Given the description of an element on the screen output the (x, y) to click on. 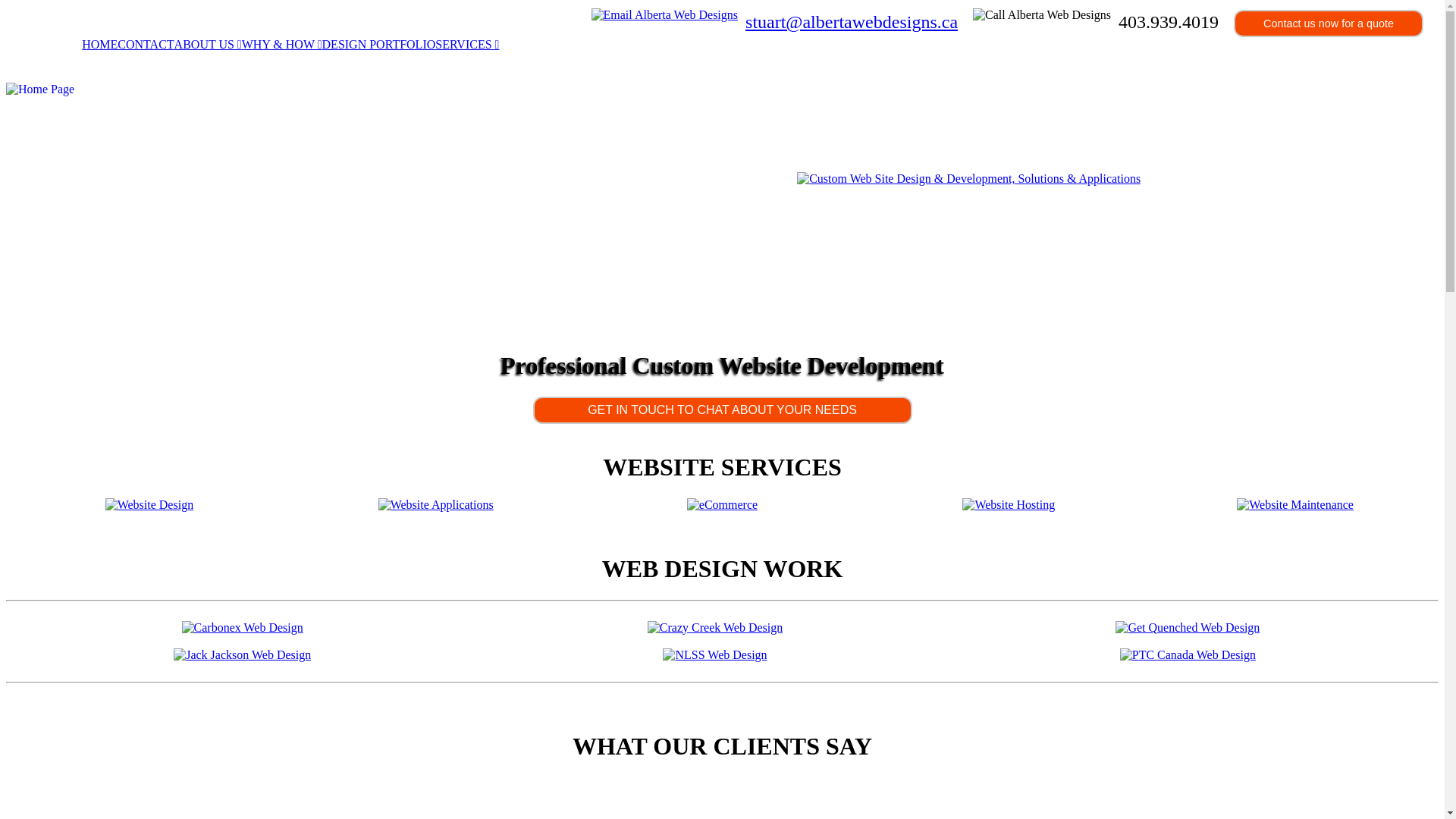
Contact us now for a quote Element type: text (1328, 23)
HOME Element type: text (99, 43)
CONTACT Element type: text (145, 43)
GET IN TOUCH TO CHAT ABOUT YOUR NEEDS Element type: text (721, 409)
DESIGN PORTFOLIO Element type: text (379, 43)
stuart@albertawebdesigns.ca Element type: text (851, 21)
